Given the description of an element on the screen output the (x, y) to click on. 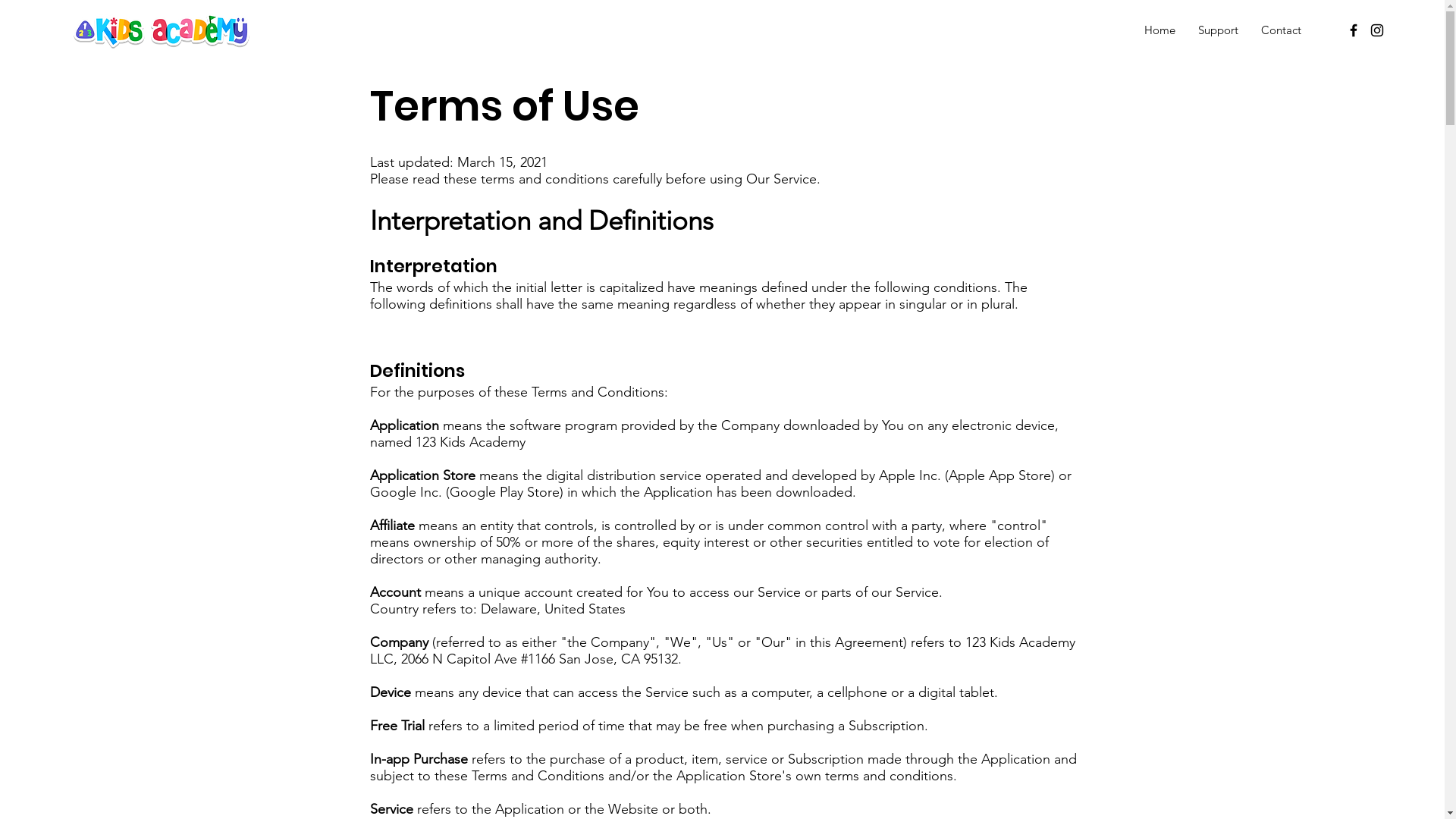
Support Element type: text (1217, 29)
Home Element type: text (1159, 29)
Contact Element type: text (1280, 29)
